Given the description of an element on the screen output the (x, y) to click on. 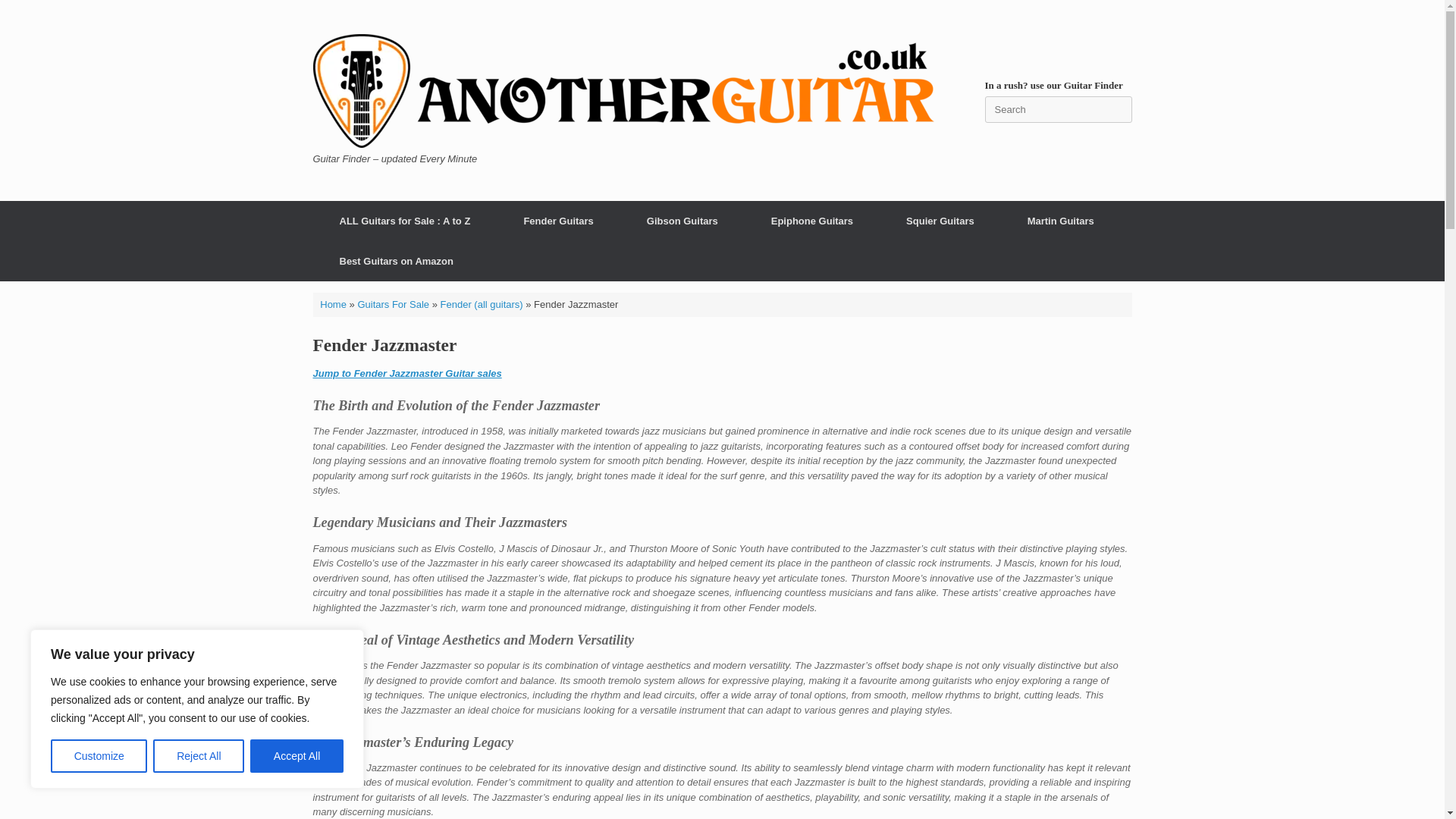
ALL Guitars for Sale : A to Z (404, 219)
AnotherGuitar.co.uk (623, 91)
Customize (98, 756)
Accept All (296, 756)
Reject All (198, 756)
